Given the description of an element on the screen output the (x, y) to click on. 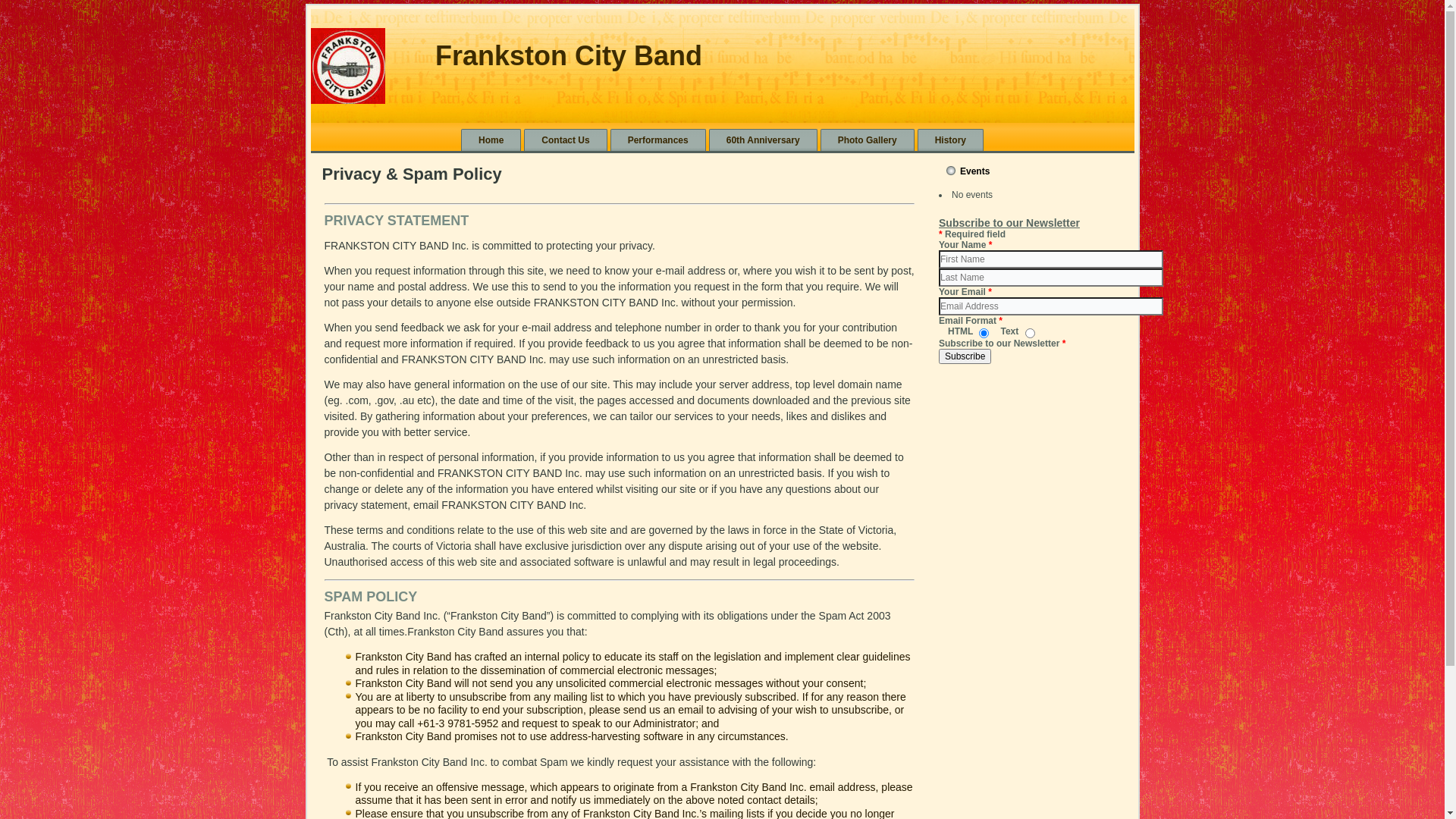
Contact Us Element type: text (565, 139)
Home Element type: text (490, 139)
History Element type: text (950, 139)
Subscribe Element type: text (964, 356)
Photo Gallery Element type: text (867, 139)
60th Anniversary Element type: text (763, 139)
Performances Element type: text (658, 139)
Frankston City Band Element type: text (568, 55)
